Given the description of an element on the screen output the (x, y) to click on. 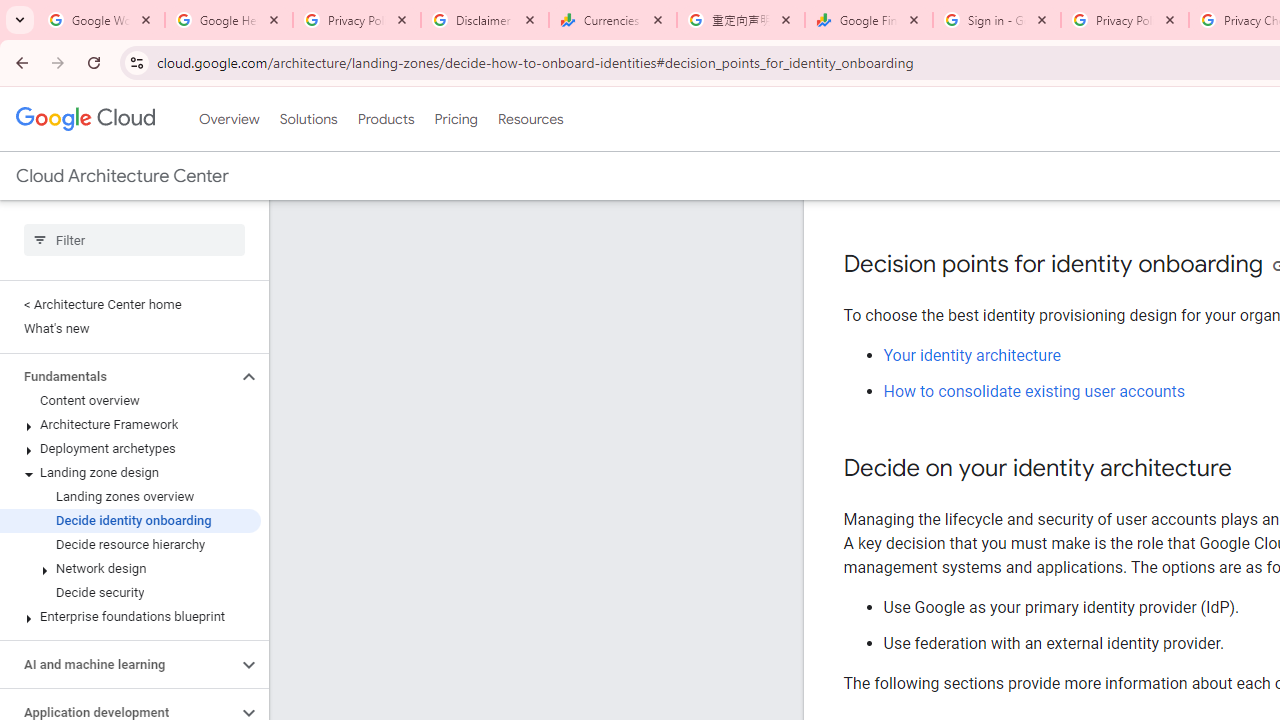
Solutions (308, 119)
Resources (530, 119)
What's new (130, 328)
Products (385, 119)
Pricing (455, 119)
Landing zone design (130, 472)
Cloud Architecture Center (122, 175)
Decide security (130, 592)
